Given the description of an element on the screen output the (x, y) to click on. 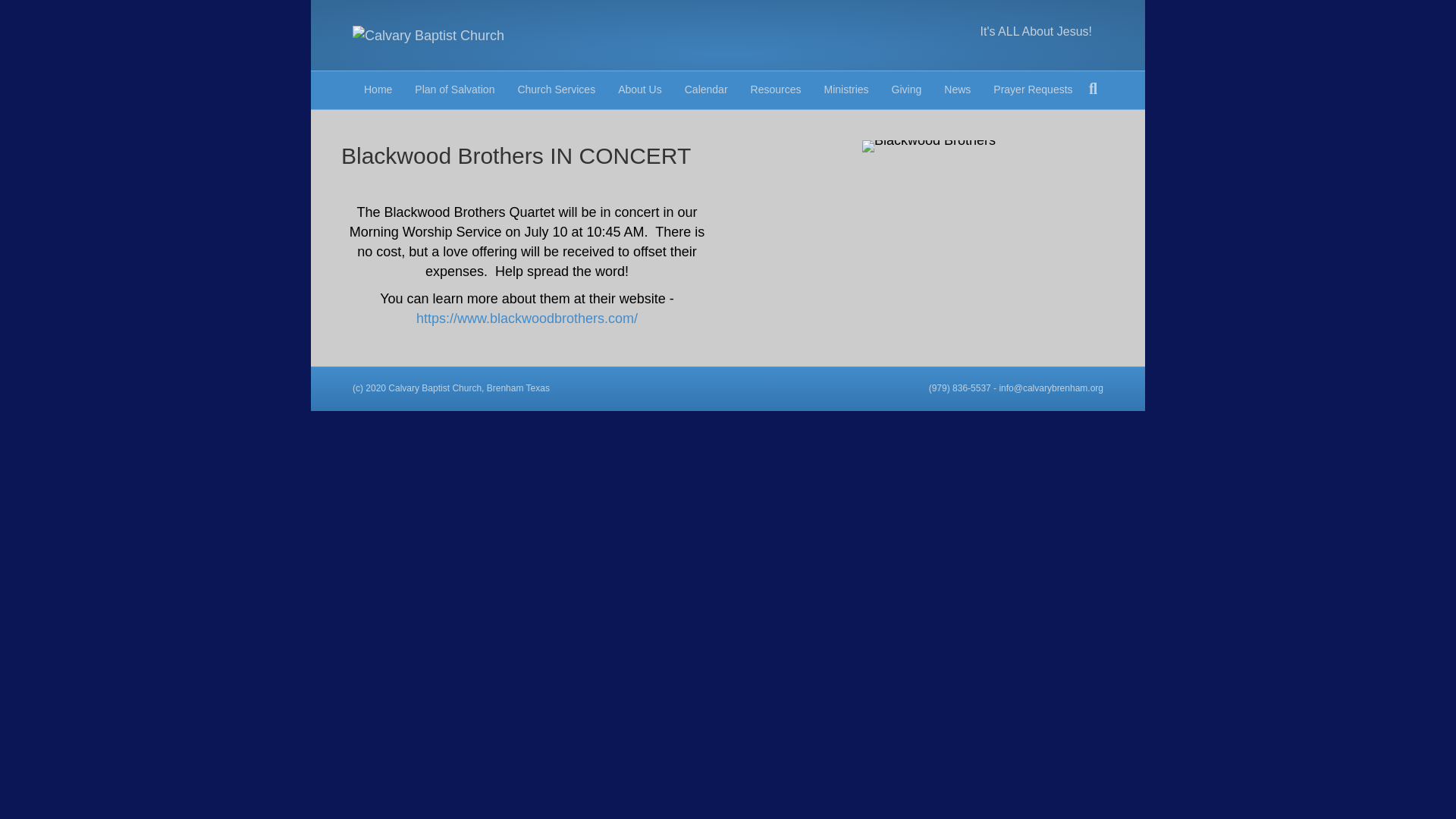
Church Services (556, 89)
Plan of Salvation (454, 89)
Home (377, 89)
Blackwood Brothers Quartet (928, 146)
